Given the description of an element on the screen output the (x, y) to click on. 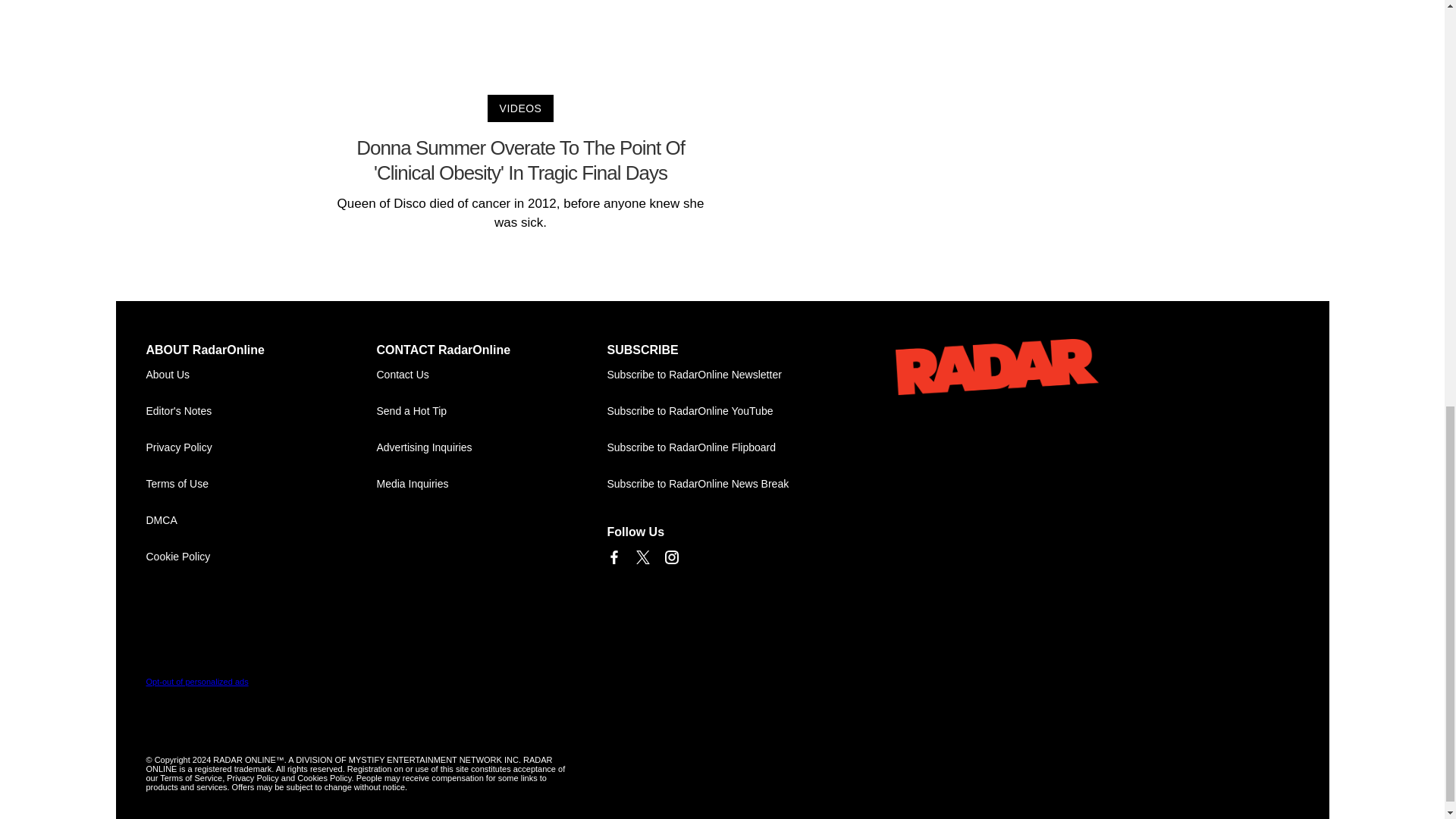
Subscribe (722, 375)
About Us (260, 375)
Contact Us (491, 375)
Terms of Use (260, 484)
Editor's Notes (260, 411)
Subscribe to RadarOnline on YouTube (722, 411)
Privacy Policy (260, 447)
Advertising Inquiries (491, 447)
DMCA (260, 520)
Advertising Inquiries (491, 447)
Editor's Notes (260, 411)
Link to Facebook (613, 557)
Subscribe to RadarOnline News Break (722, 484)
